Given the description of an element on the screen output the (x, y) to click on. 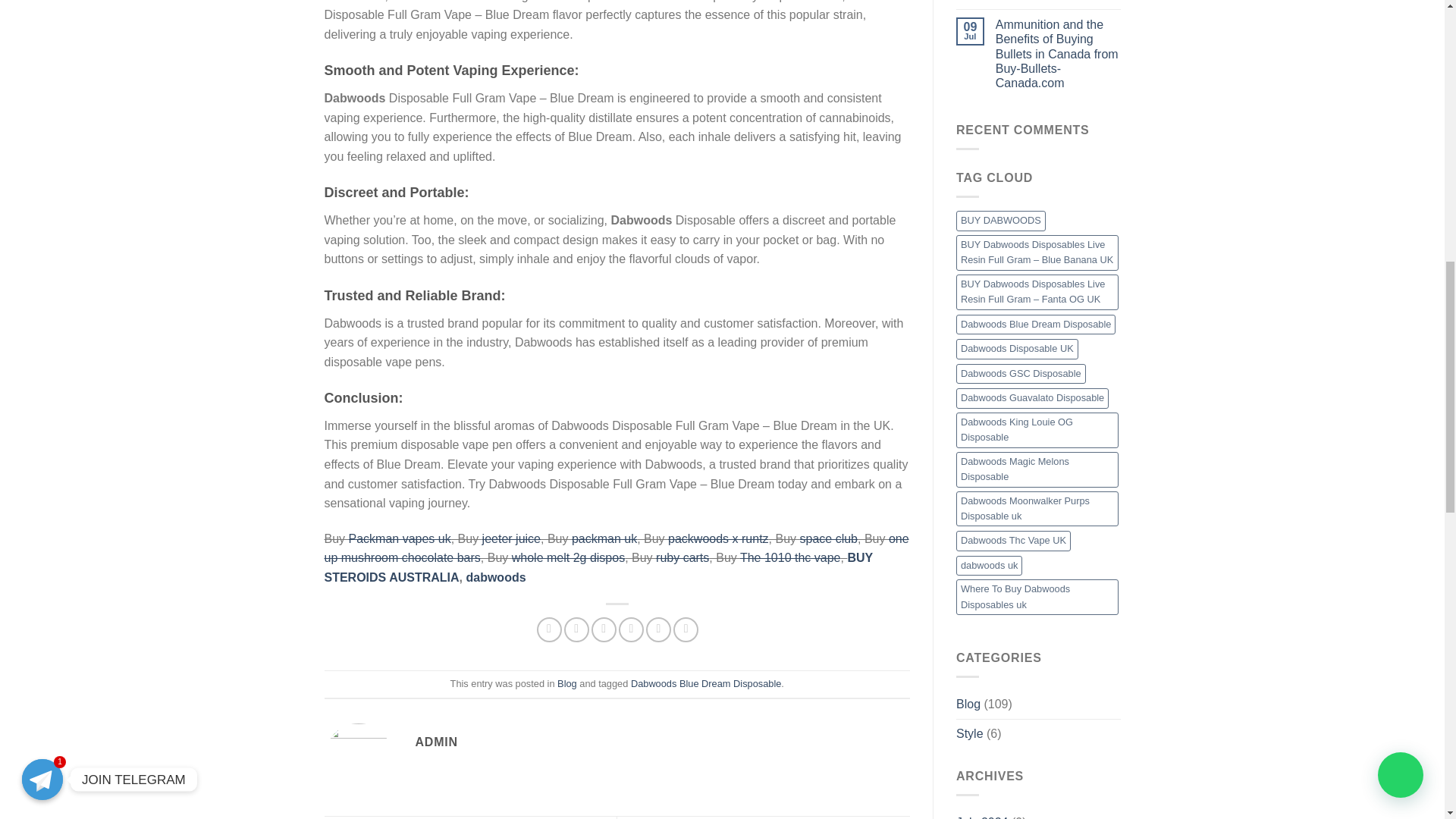
one up mushroom chocolate bars (616, 548)
jeeter juice (510, 538)
packman uk (604, 538)
ruby carts (682, 557)
space club (828, 538)
BUY STEROIDS AUSTRALIA (598, 567)
whole melt 2g dispos (568, 557)
The 1010 thc vape (790, 557)
dabwoods (495, 576)
Dabwoods Blue Dream Disposable (705, 683)
packwoods x runtz (718, 538)
Blog (566, 683)
Packman vapes uk (400, 538)
